Given the description of an element on the screen output the (x, y) to click on. 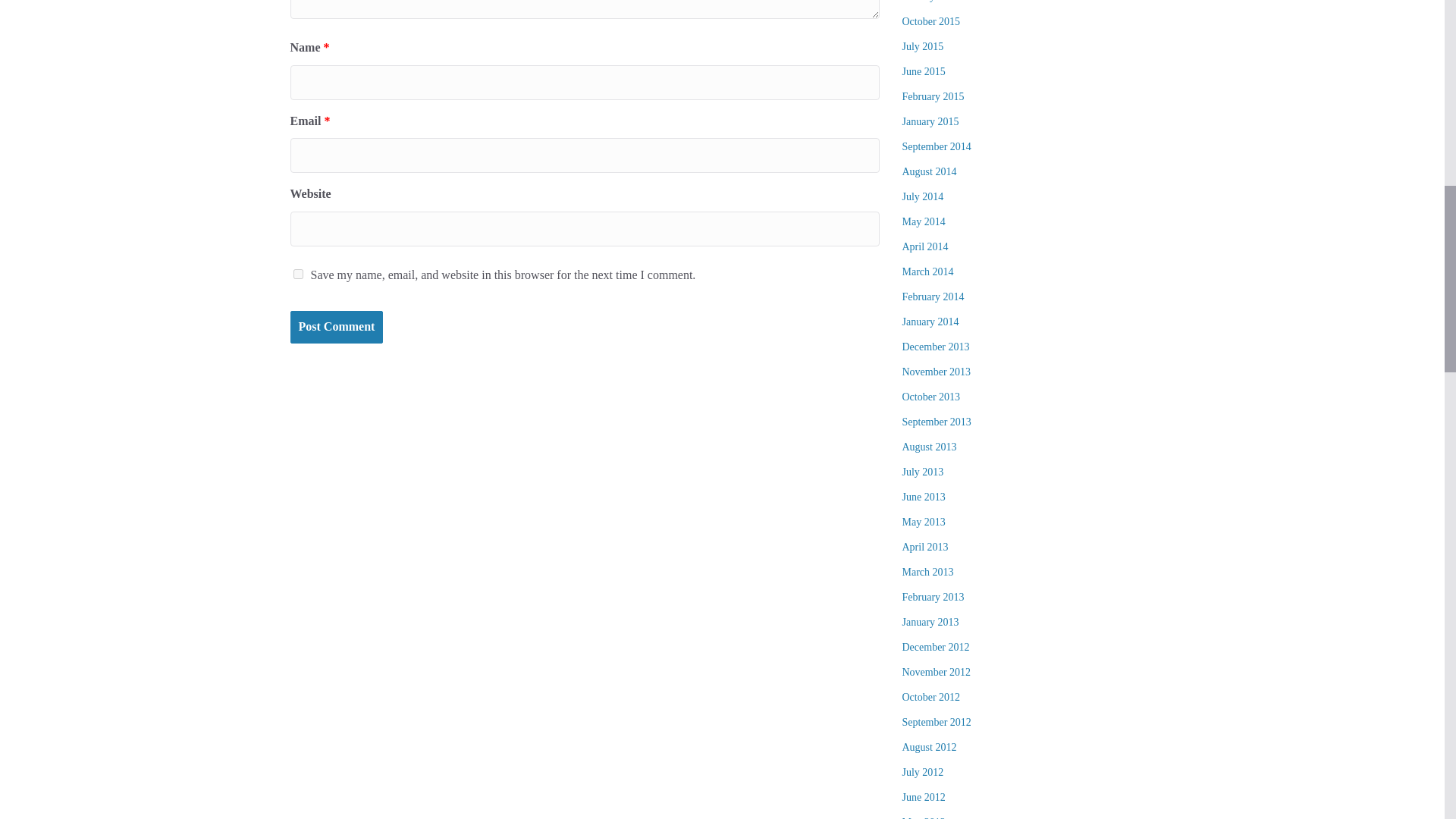
yes (297, 274)
October 2015 (931, 21)
Post Comment (335, 327)
Post Comment (335, 327)
January 2016 (930, 1)
